Given the description of an element on the screen output the (x, y) to click on. 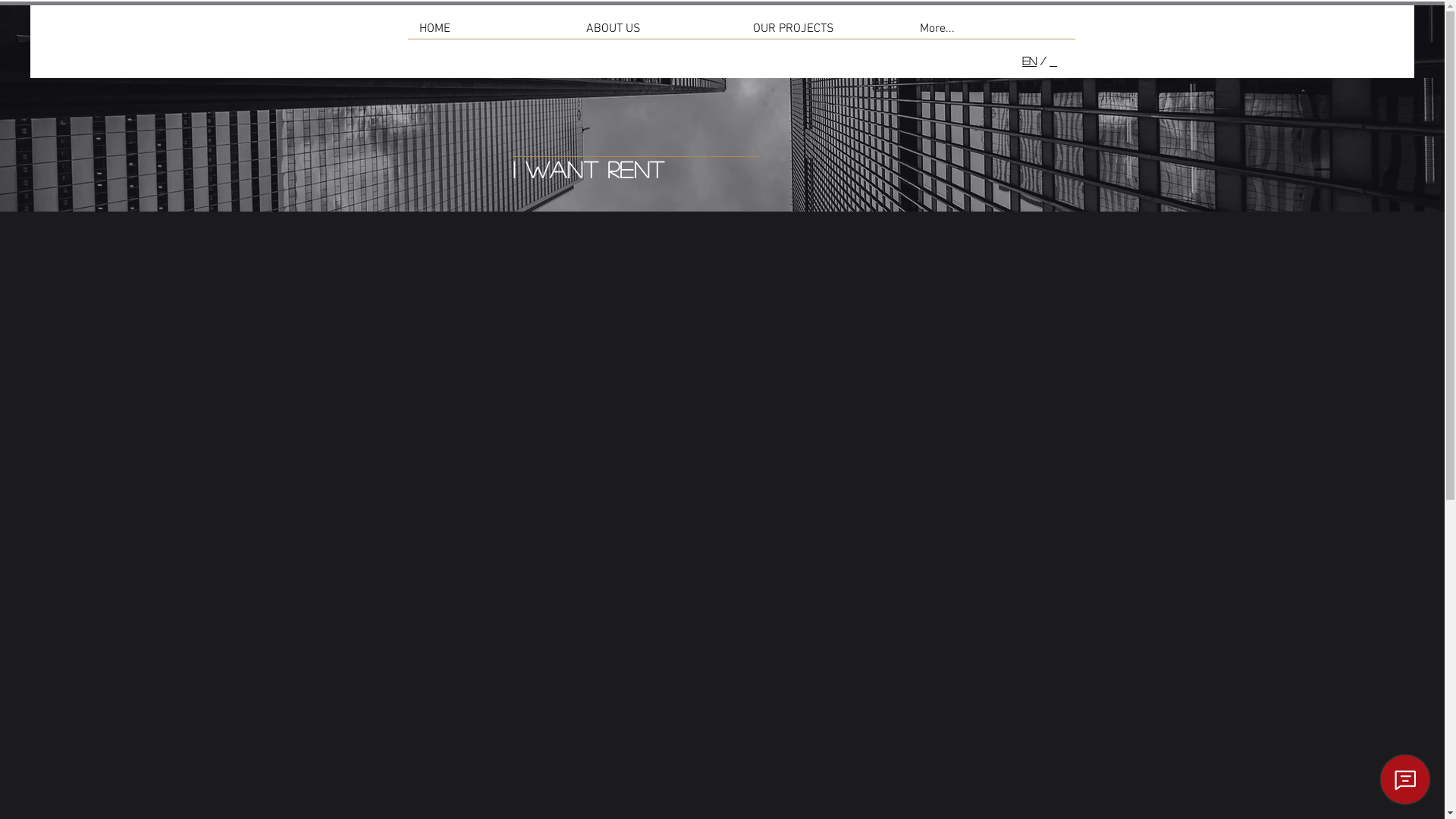
Noble-Logo-2015-09.png Element type: hover (123, 48)
CONTACT US Element type: text (1026, 47)
ABOUT US Element type: text (459, 47)
ABOUT US Element type: text (657, 33)
HOME Element type: text (490, 33)
HOME BUILDER Element type: text (764, 47)
EN Element type: text (1029, 59)
OUR PROJECTS Element type: text (824, 33)
HOME Element type: text (390, 47)
PROPERTY MANAGEMENT Element type: text (899, 47)
OUR SERVICES Element type: text (659, 47)
OUR PROJECTS Element type: text (553, 47)
